Given the description of an element on the screen output the (x, y) to click on. 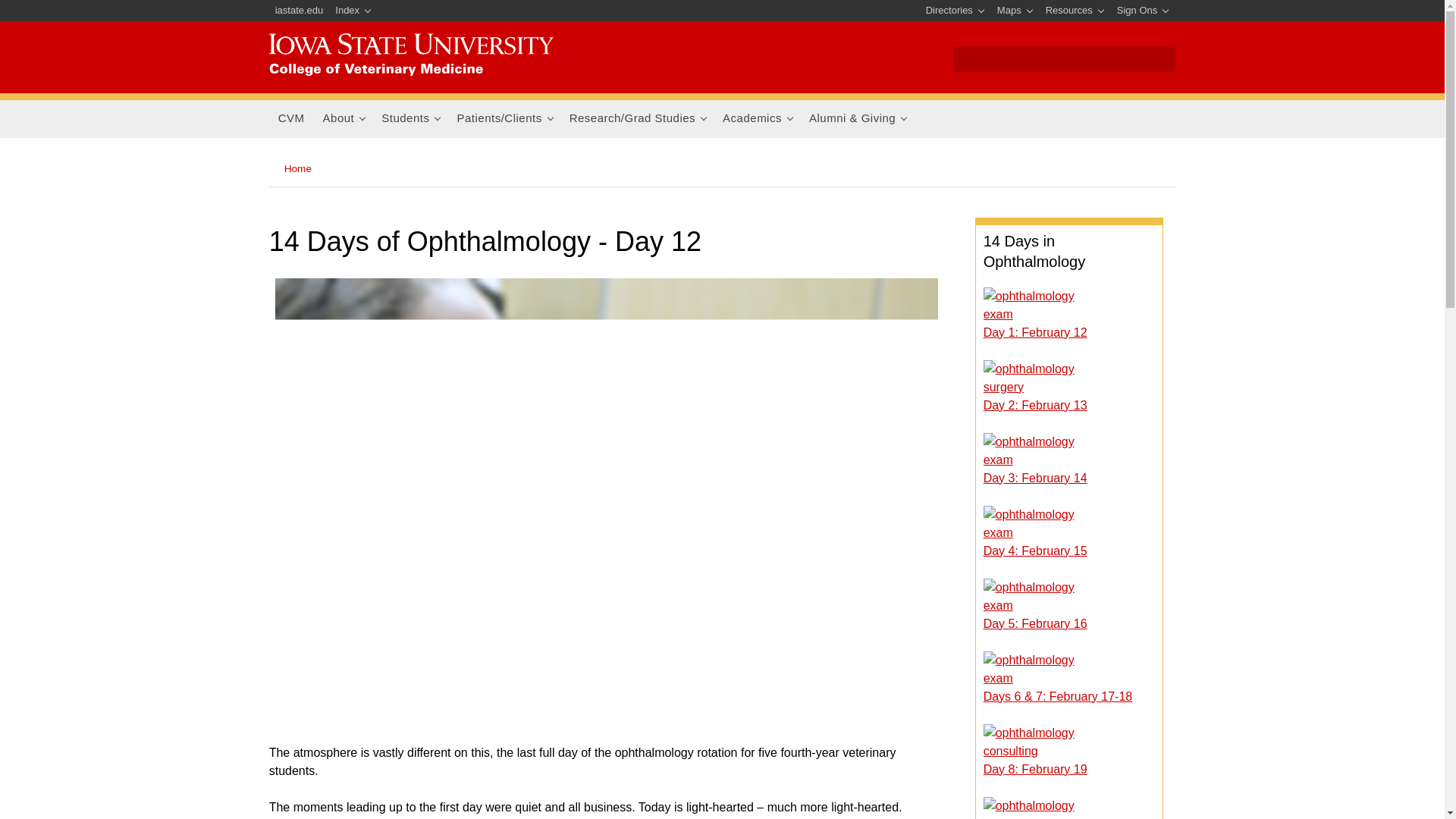
Maps (1015, 10)
Resources (1074, 10)
iastate.edu (299, 10)
Directories (955, 10)
CVM Site and ISU Index (353, 10)
CVM (291, 118)
Sign Ons (1142, 10)
Skip to main content (685, 1)
Iowa State University Home Page (299, 10)
Iowa State University (411, 54)
Index (353, 10)
Enter the terms you wish to search for. (1038, 60)
